Given the description of an element on the screen output the (x, y) to click on. 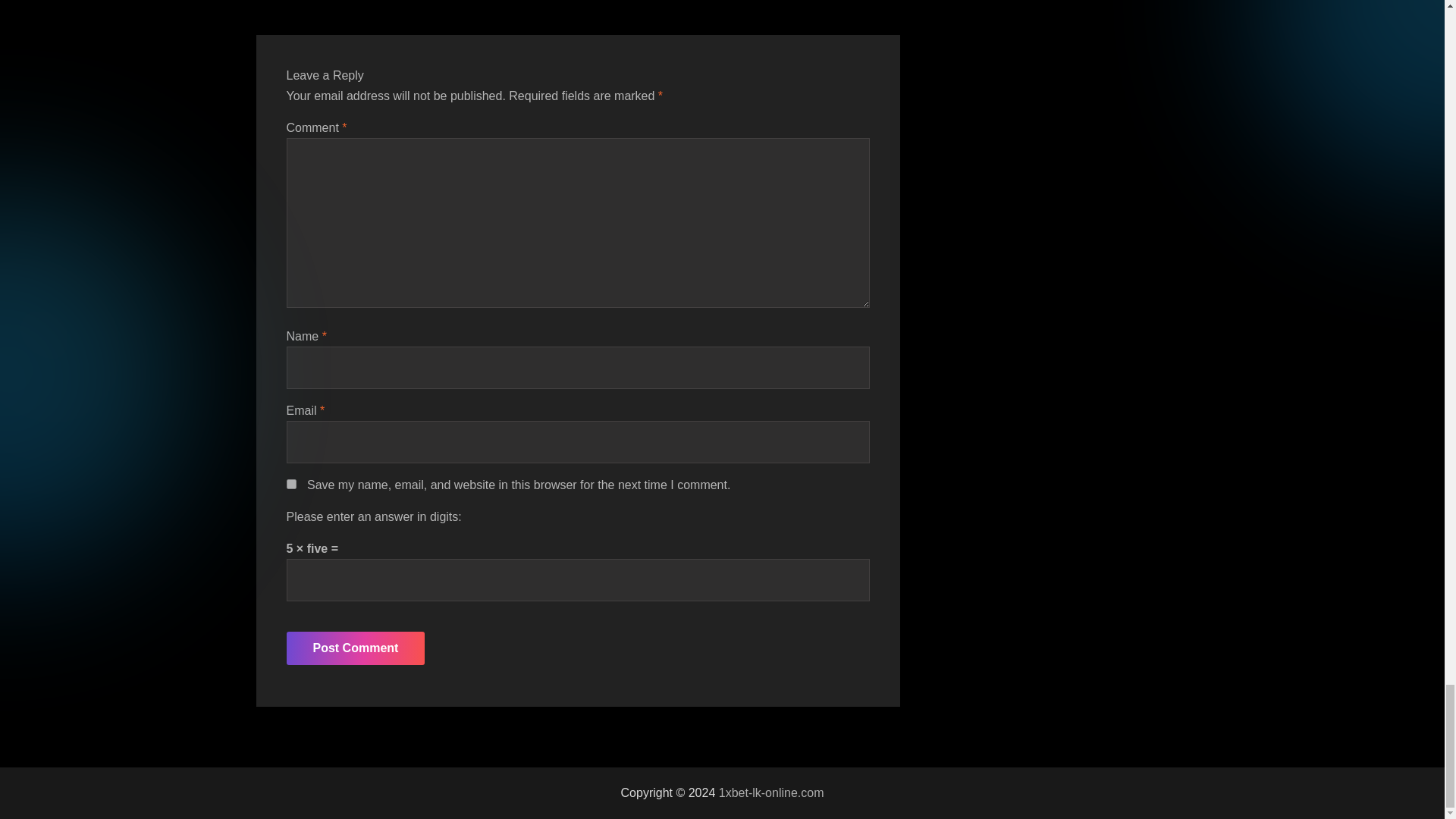
1xbet-lk-online.com (771, 792)
Post Comment (355, 648)
yes (291, 483)
Post Comment (355, 648)
